Given the description of an element on the screen output the (x, y) to click on. 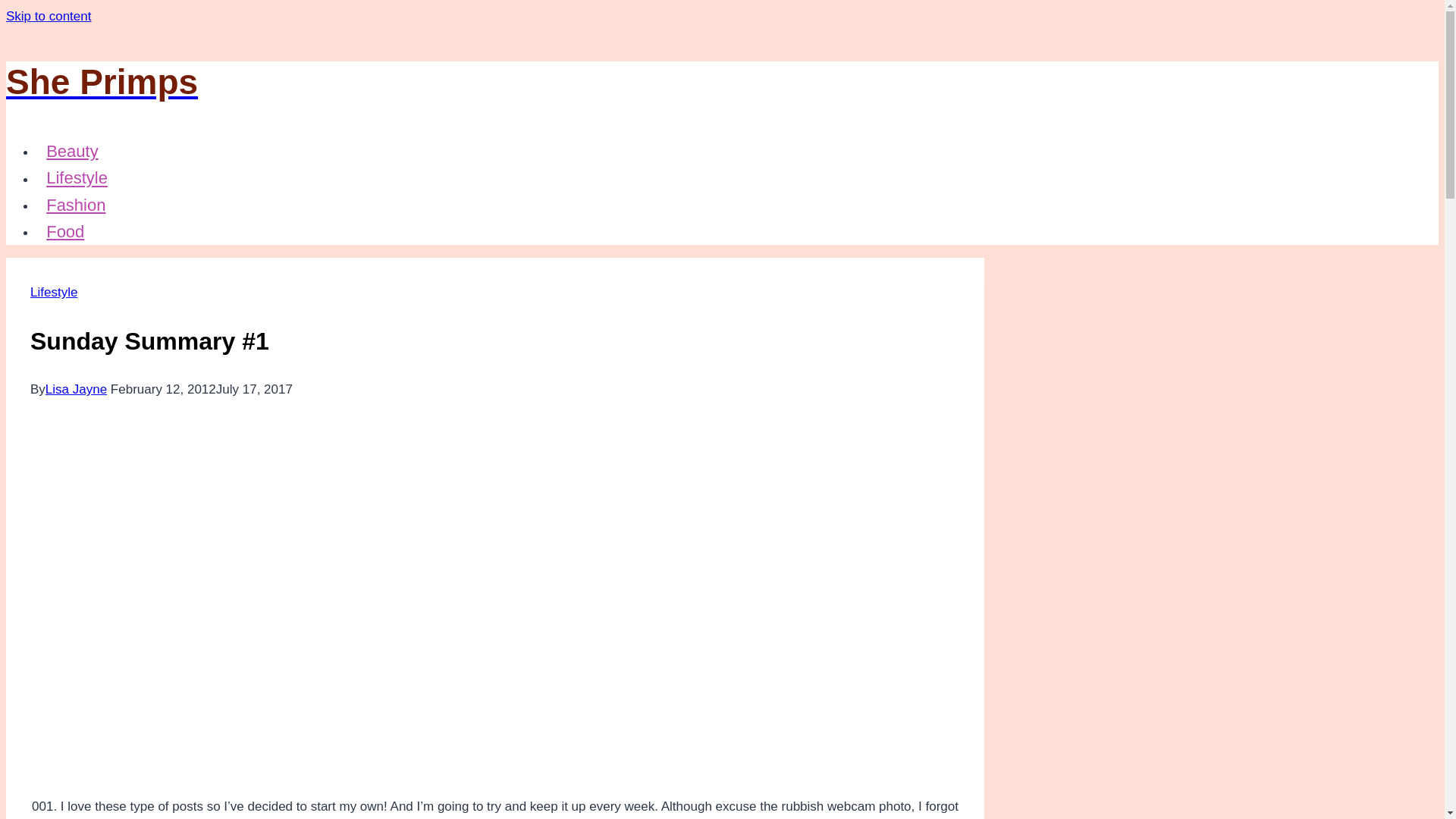
Skip to content (47, 16)
Fashion (76, 204)
Lifestyle (76, 177)
Skip to content (47, 16)
Food (65, 231)
She Primps (494, 82)
Lisa Jayne (75, 389)
Lifestyle (53, 292)
Beauty (71, 150)
